Given the description of an element on the screen output the (x, y) to click on. 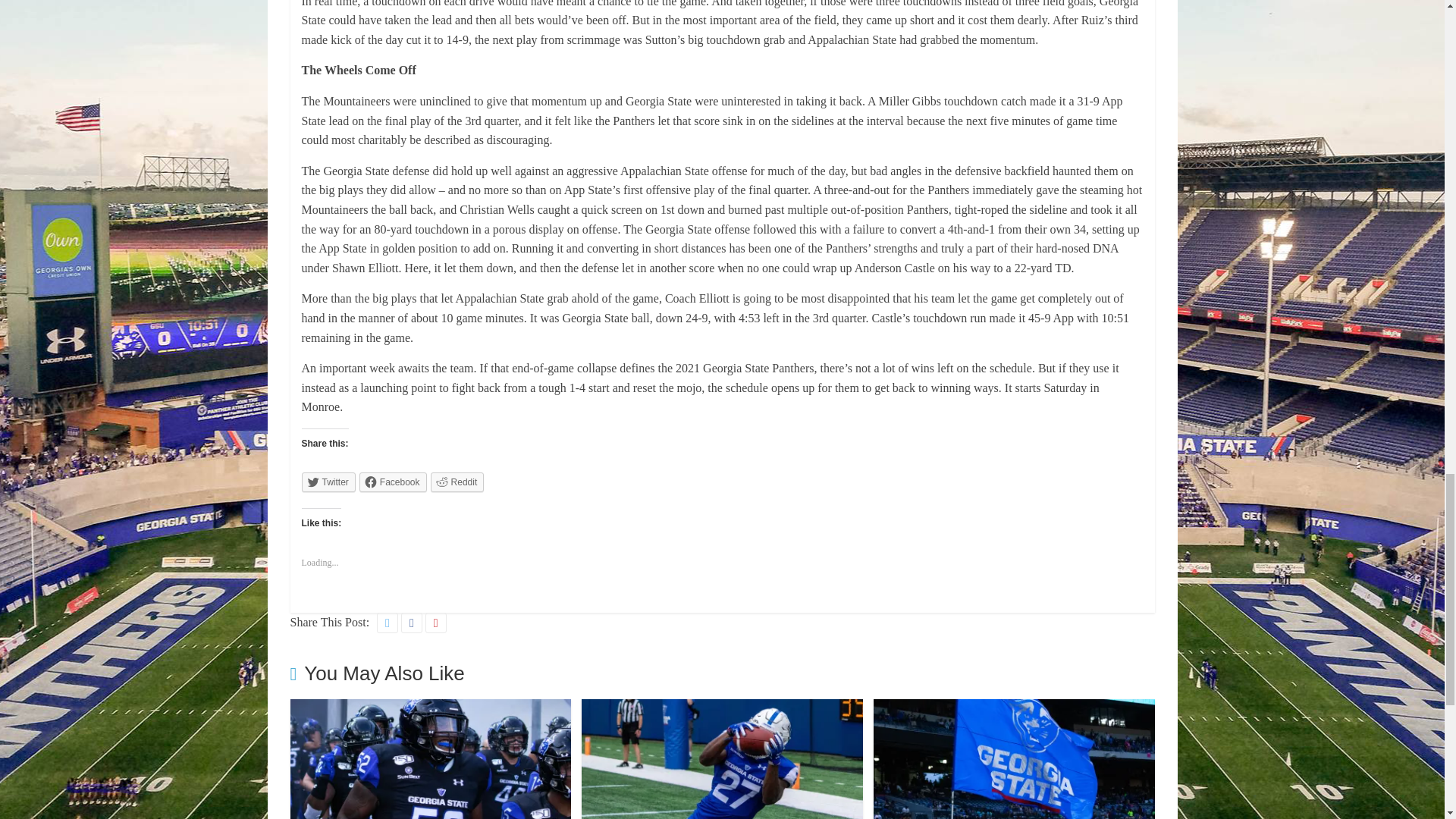
Click to share on Reddit (457, 482)
Click to share on Facebook (392, 482)
Click to share on Twitter (328, 482)
Reddit (457, 482)
Twitter (328, 482)
Facebook (392, 482)
